Given the description of an element on the screen output the (x, y) to click on. 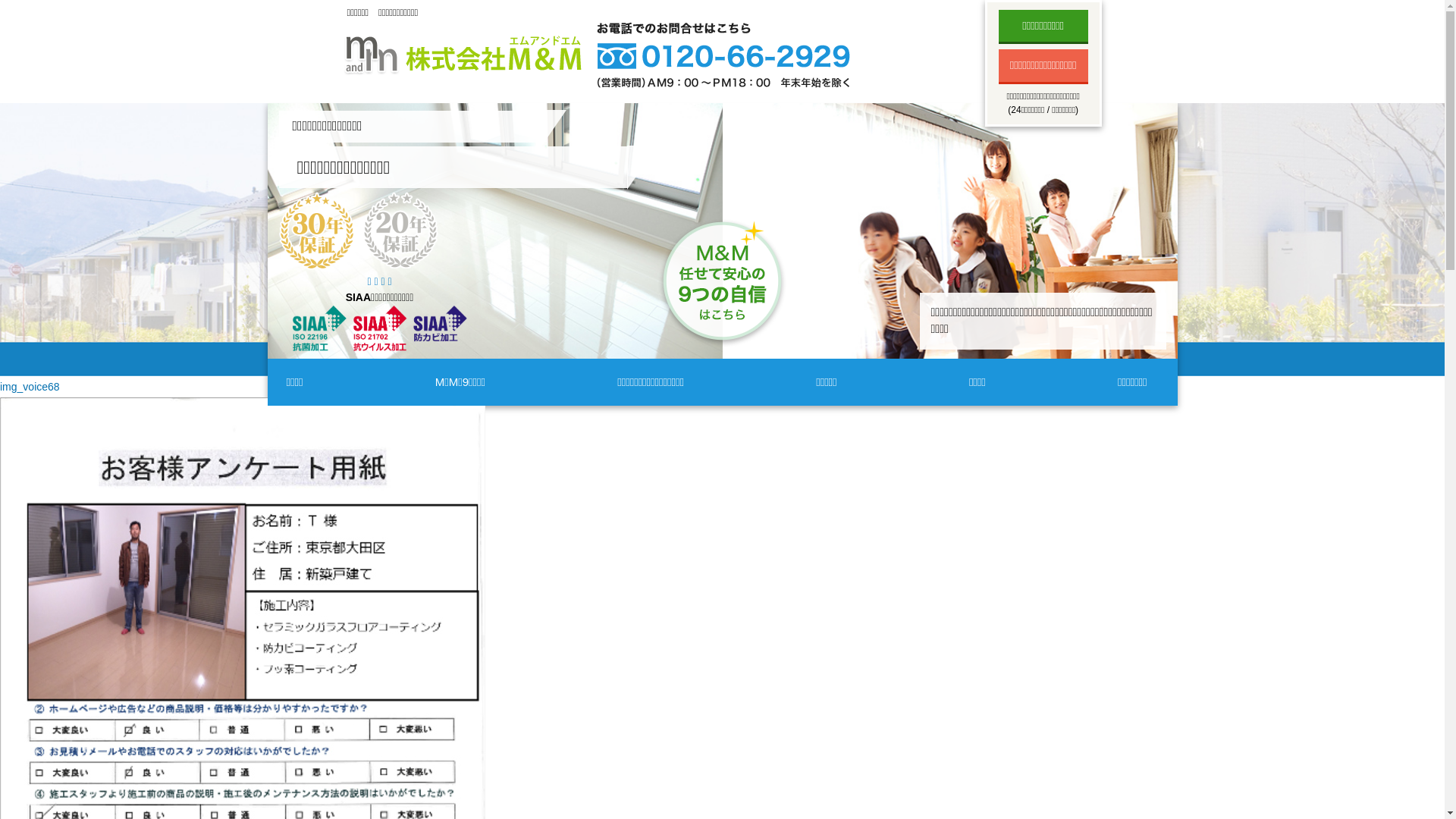
img_voice68 Element type: text (29, 386)
